Given the description of an element on the screen output the (x, y) to click on. 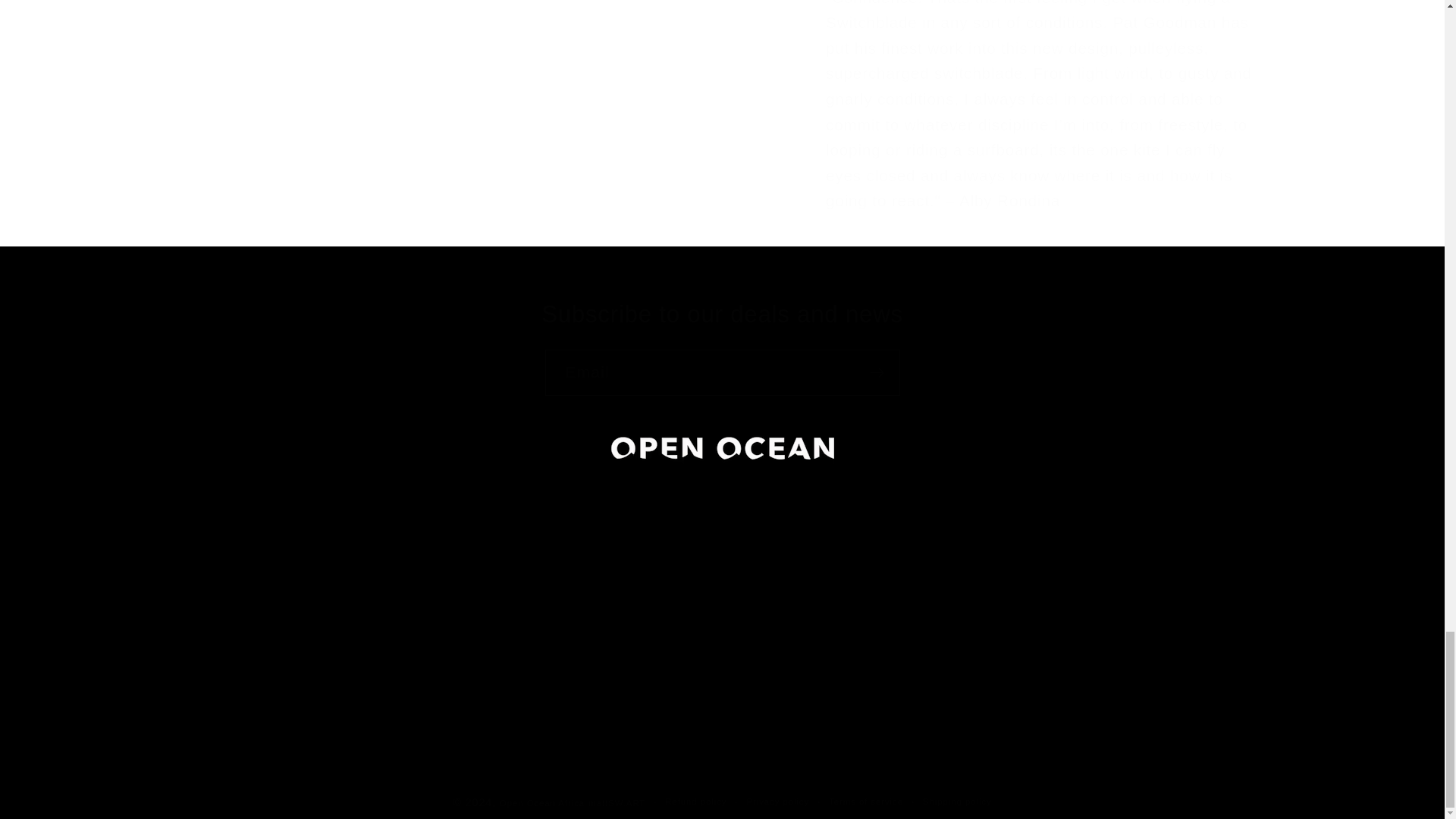
Subscribe to our deals and news (721, 314)
Email (721, 372)
